Given the description of an element on the screen output the (x, y) to click on. 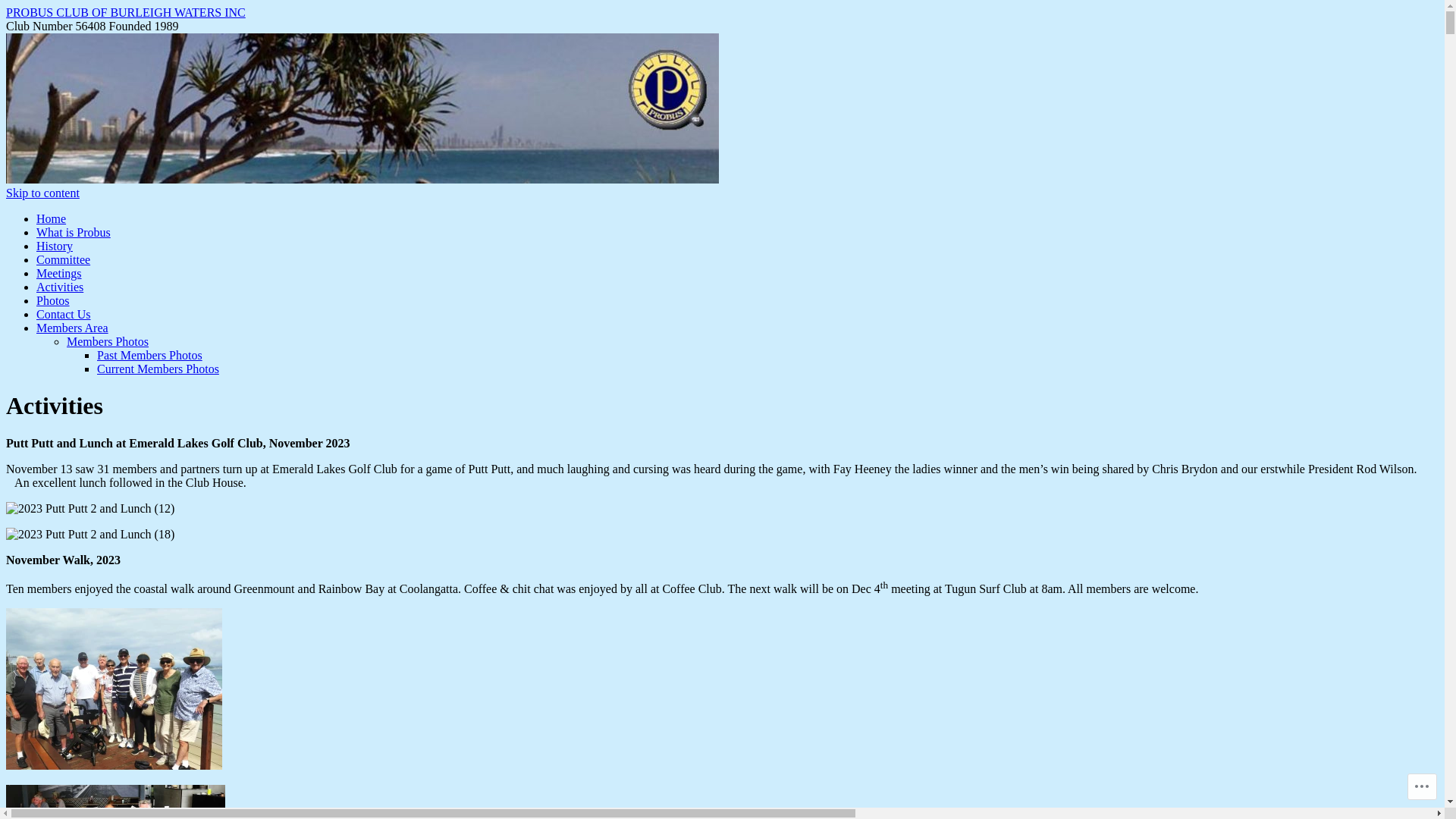
Meetings Element type: text (58, 272)
Skip to content Element type: text (42, 192)
Members Area Element type: text (72, 327)
Home Element type: text (50, 218)
Contact Us Element type: text (63, 313)
Photos Element type: text (52, 300)
Committee Element type: text (63, 259)
What is Probus Element type: text (73, 231)
PROBUS CLUB OF BURLEIGH WATERS INC Element type: hover (362, 178)
History Element type: text (54, 245)
Activities Element type: text (59, 286)
Members Photos Element type: text (107, 341)
Current Members Photos Element type: text (158, 368)
PROBUS CLUB OF BURLEIGH WATERS INC Element type: text (125, 12)
Past Members Photos Element type: text (149, 354)
